Given the description of an element on the screen output the (x, y) to click on. 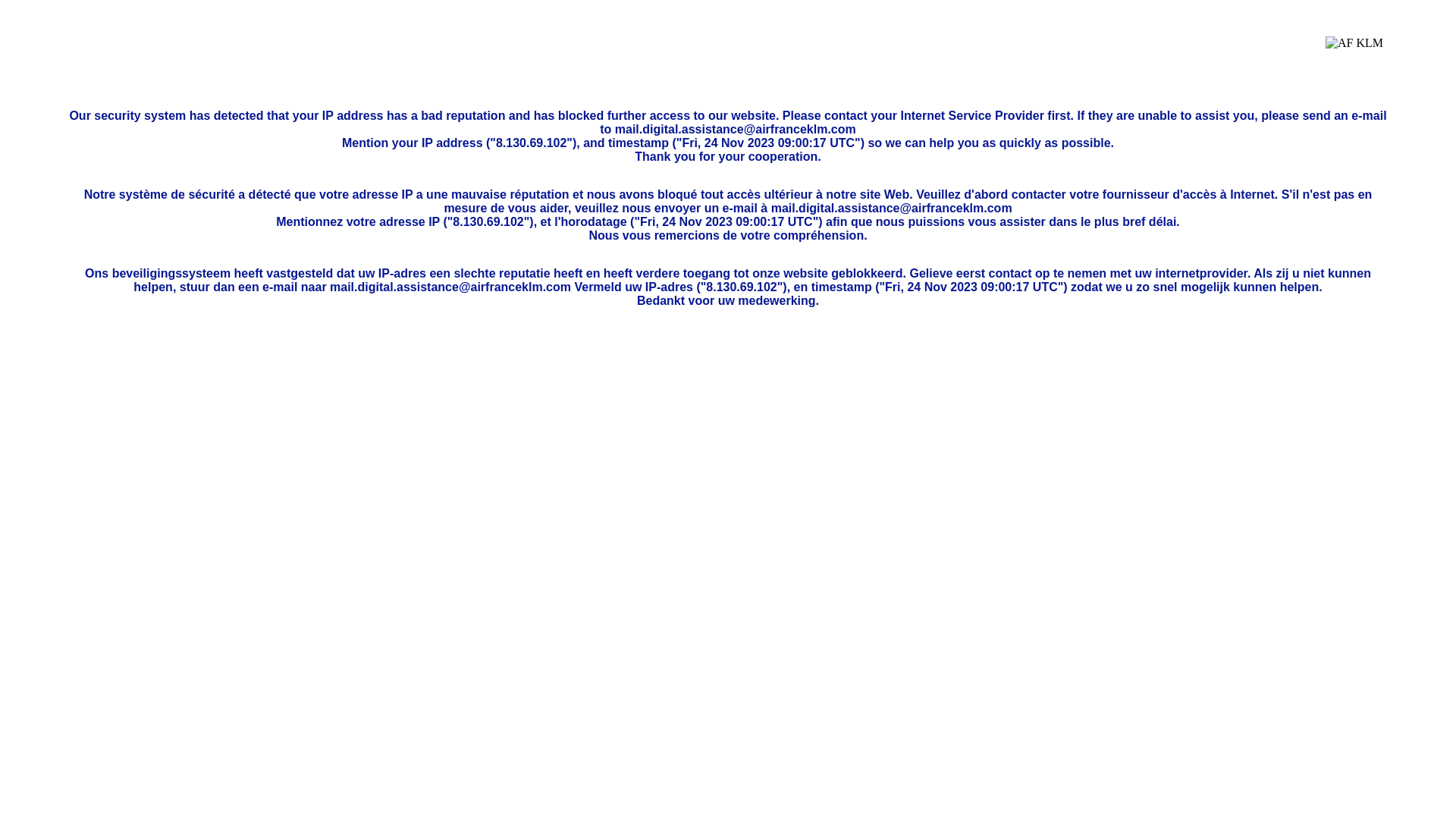
AF KLM Element type: hover (1354, 54)
